Given the description of an element on the screen output the (x, y) to click on. 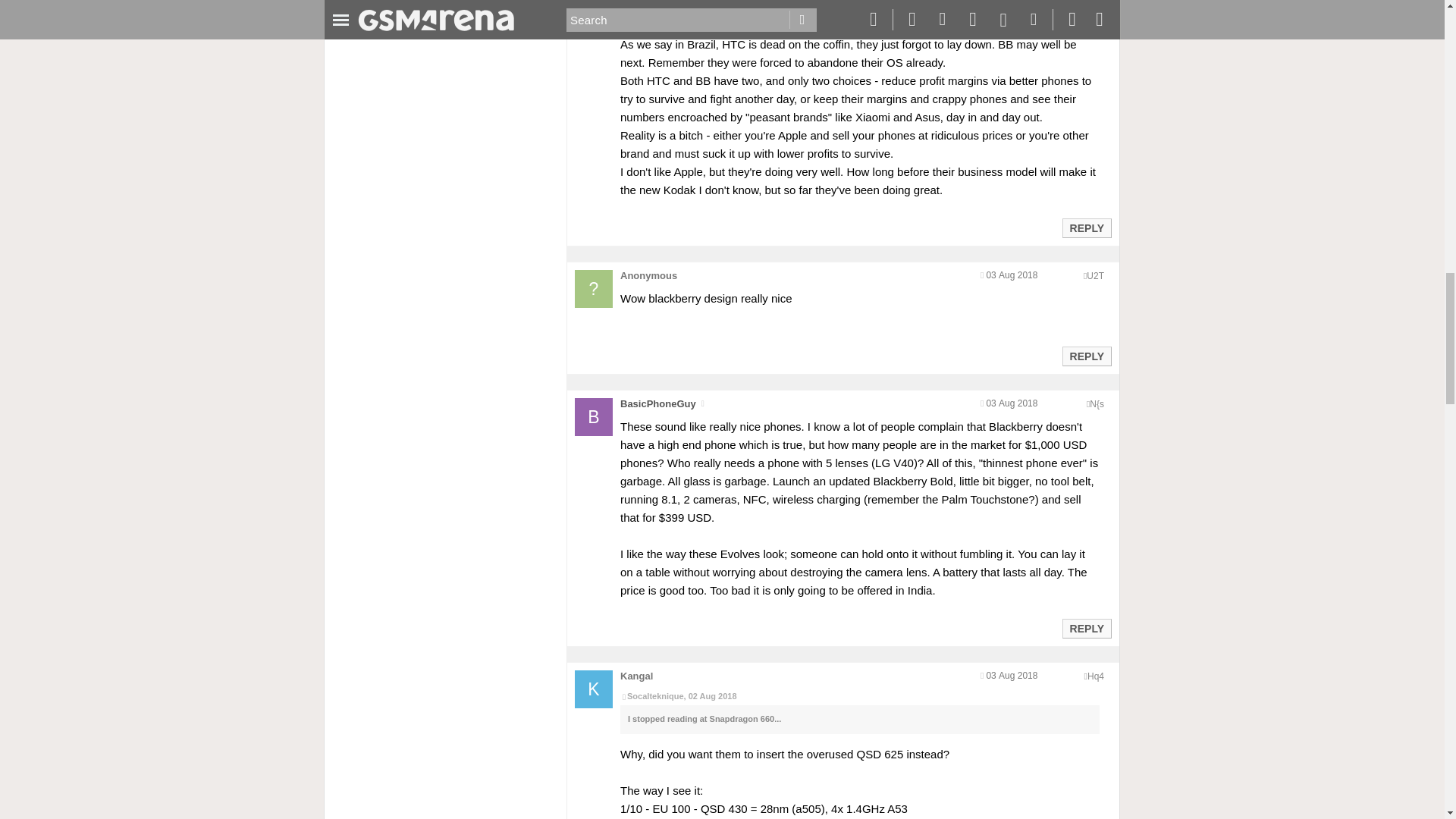
Encoded anonymized location (1094, 276)
Reply to this post (1086, 227)
Encoded anonymized location (1095, 675)
Encoded anonymized location (1096, 403)
Reply to this post (1086, 628)
Reply to this post (1086, 356)
